Given the description of an element on the screen output the (x, y) to click on. 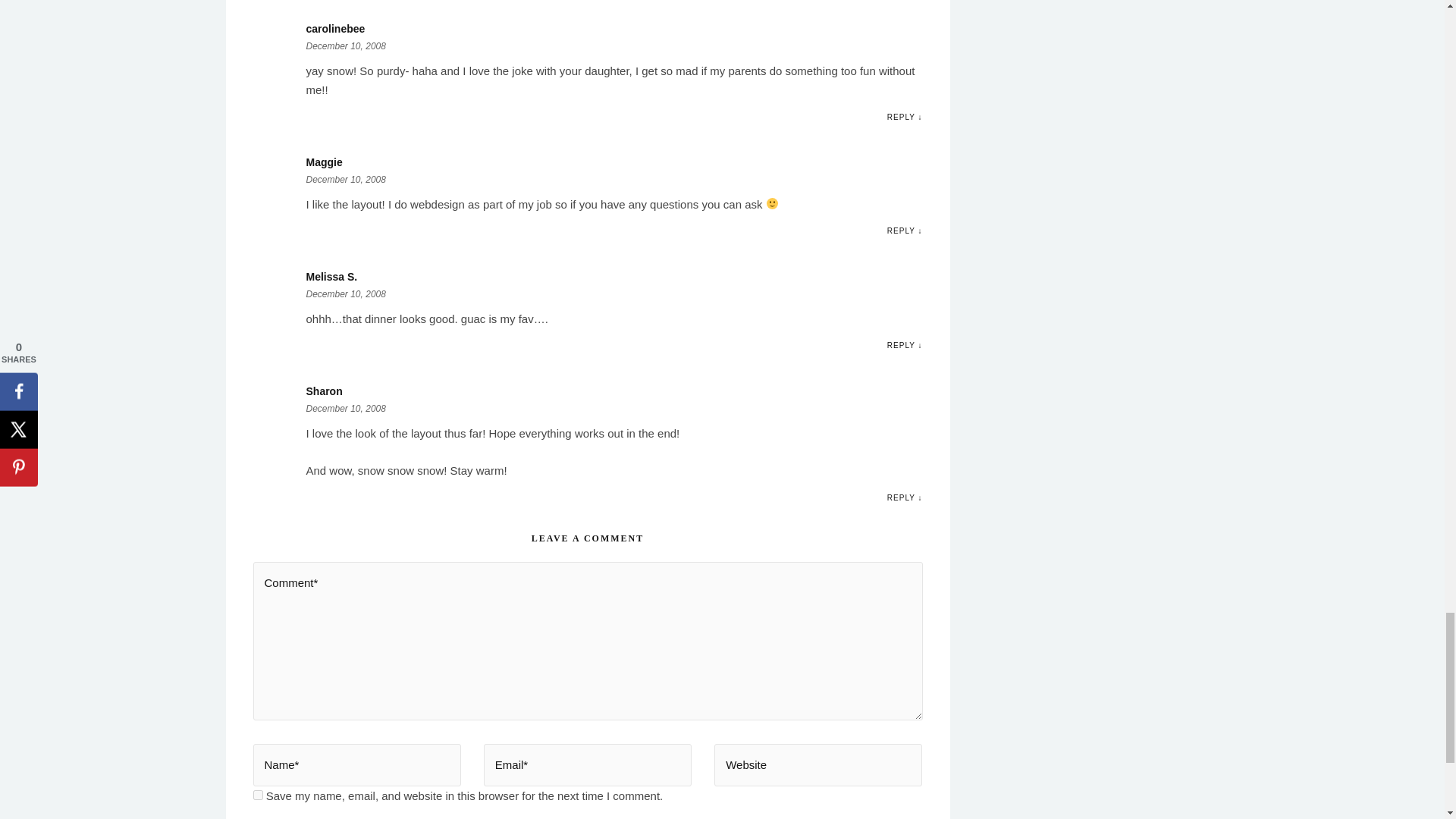
yes (258, 795)
